Given the description of an element on the screen output the (x, y) to click on. 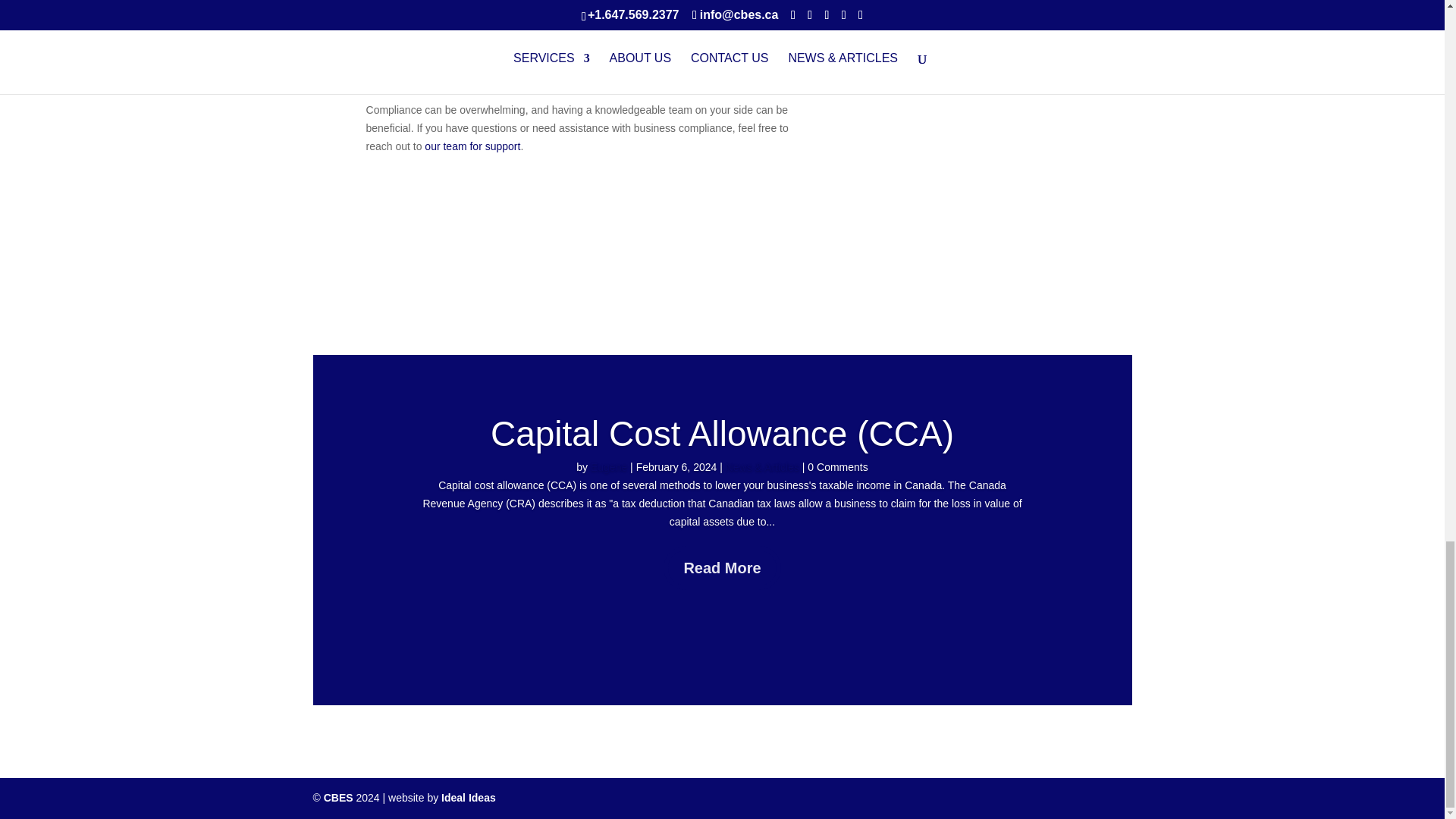
Eugene (609, 467)
Posts by Eugene (609, 467)
Ideal Ideas (468, 797)
our team for support (472, 146)
